Given the description of an element on the screen output the (x, y) to click on. 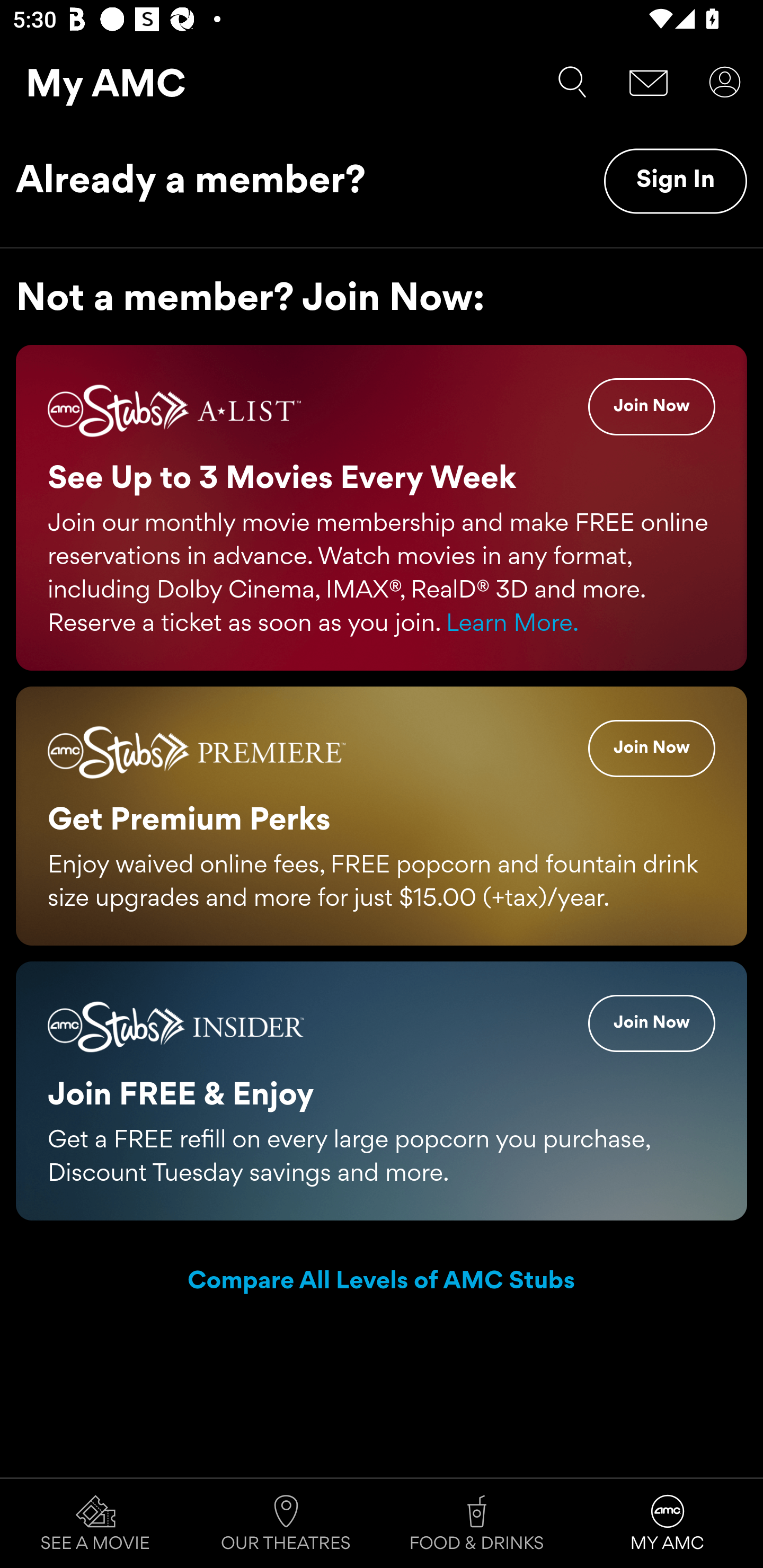
Search (572, 82)
Message Center (648, 82)
User Account (724, 82)
Sign In (675, 180)
A-List Join Now (651, 406)
Premiere Join Now (651, 748)
Insider Join Now (651, 1022)
Compare All Levels of AMC Stubs (381, 1282)
SEE A MOVIE
Tab 1 of 4 (95, 1523)
OUR THEATRES
Tab 2 of 4 (285, 1523)
FOOD & DRINKS
Tab 3 of 4 (476, 1523)
MY AMC
Tab 4 of 4 (667, 1523)
